Given the description of an element on the screen output the (x, y) to click on. 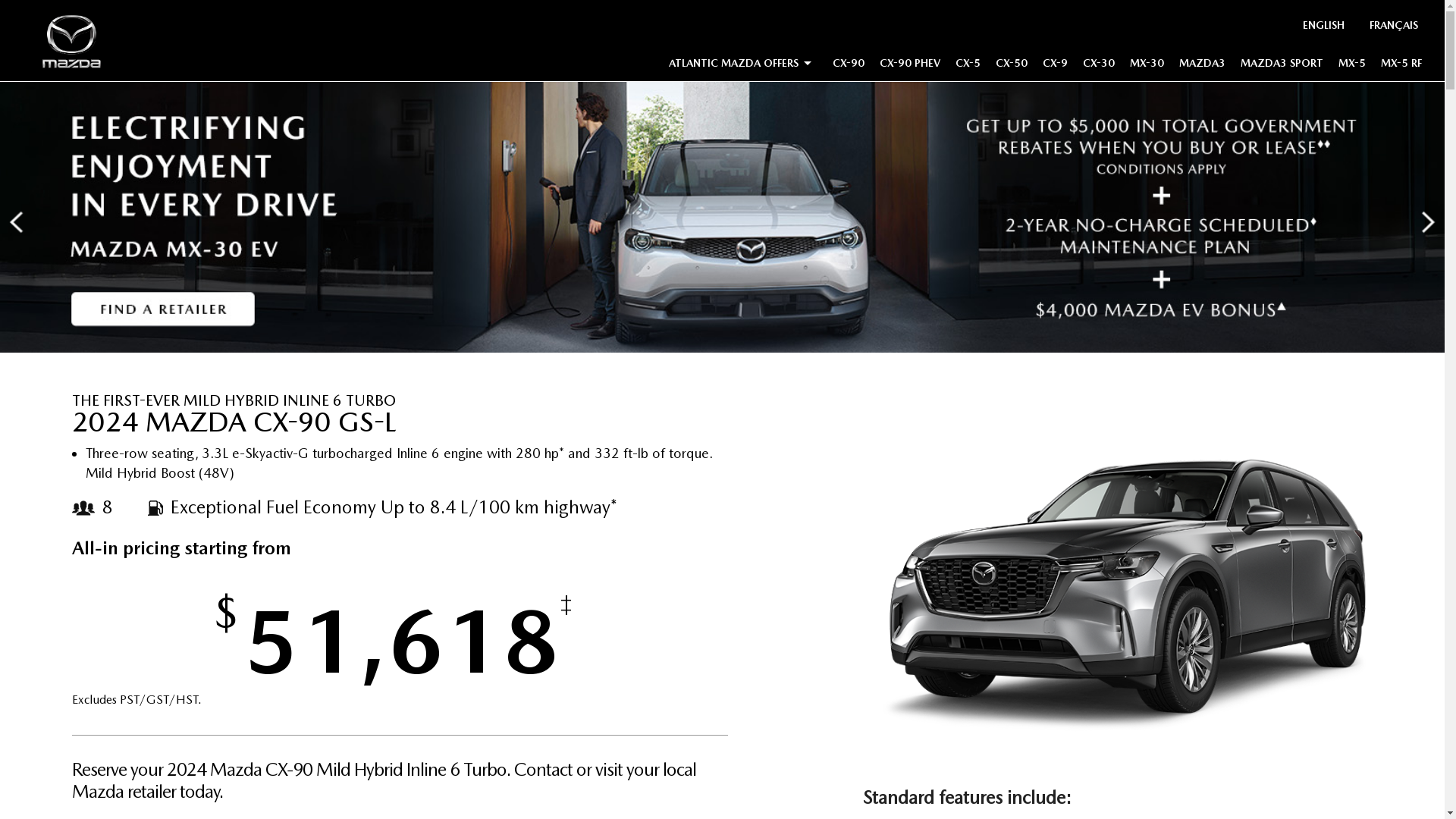
ALBERTA MAZDA OFFERS Element type: text (760, 111)
ONTARIO MAZDA OFFERS Element type: text (763, 155)
CX-5 Element type: text (967, 66)
BC MAZDA OFFERS Element type: text (746, 89)
Previous Element type: hover (15, 221)
MAZDA3 Element type: text (1202, 66)
Next Element type: hover (1427, 221)
QUEBEC MAZDA OFFERS Element type: text (759, 177)
ATLANTIC MAZDA OFFERS Element type: text (763, 199)
CX-90 PHEV Element type: text (909, 66)
CX-50 Element type: text (1011, 66)
MX-5 Element type: text (1351, 66)
CX-9 Element type: text (1054, 66)
CX-30 Element type: text (1098, 66)
MX-30 Element type: text (1146, 66)
MANITOBA SASKATCHEWAN MAZDA OFFERS Element type: text (810, 133)
ATLANTIC MAZDA OFFERS Element type: text (742, 66)
ENGLISH Element type: text (1323, 26)
CX-90 Element type: text (848, 66)
MAZDA3 SPORT Element type: text (1281, 66)
MX-5 RF Element type: text (1400, 66)
